Given the description of an element on the screen output the (x, y) to click on. 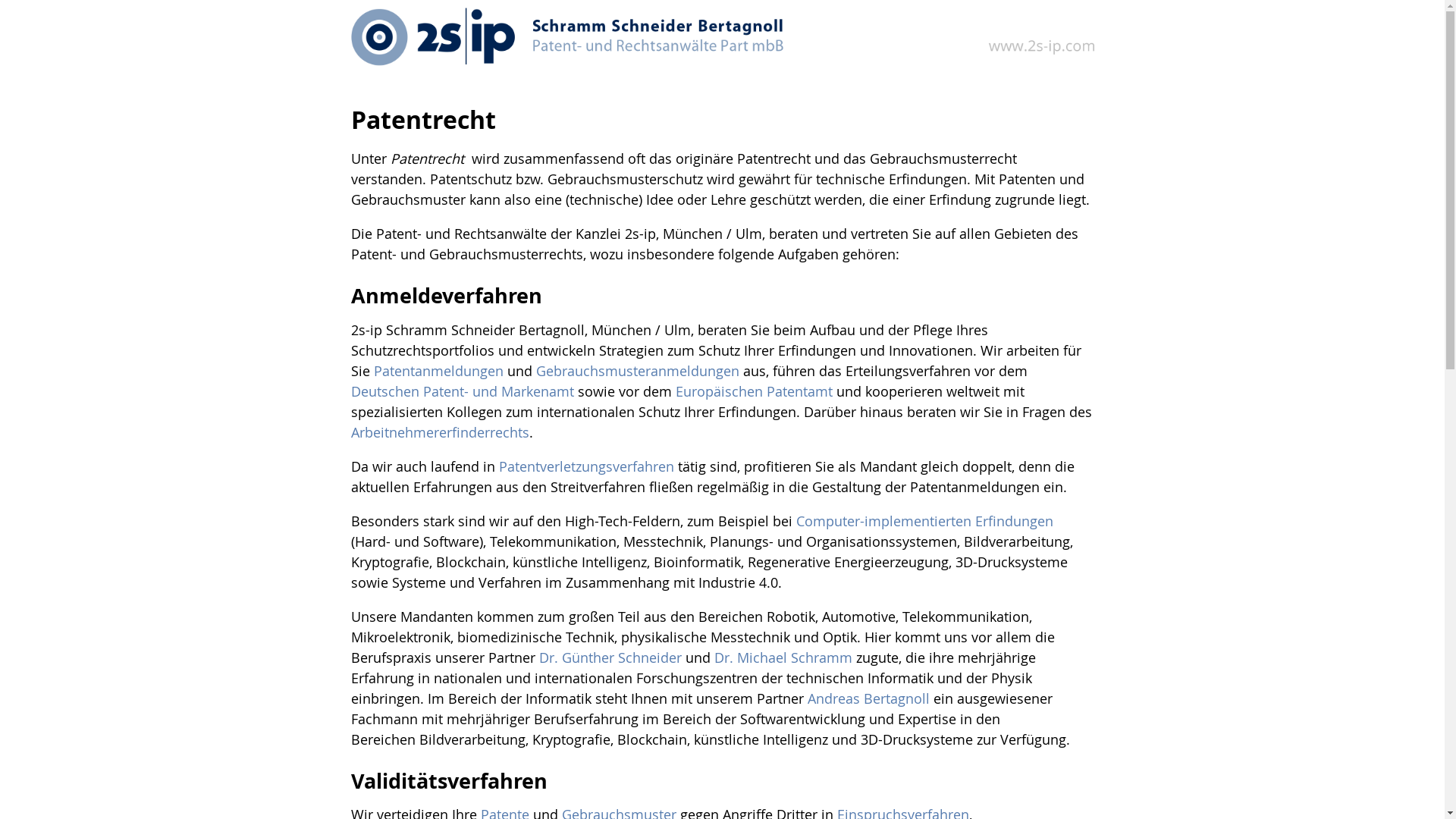
Computer-implementierten Erfindungen Element type: text (924, 520)
Dr. Michael Schramm Element type: text (783, 657)
Patentanmeldungen Element type: text (437, 370)
Gebrauchsmusteranmeldungen Element type: text (636, 370)
Andreas Bertagnoll Element type: text (867, 698)
Deutschen Patent- und Markenamt Element type: text (461, 391)
Arbeitnehmererfinderrechts Element type: text (439, 432)
Patentverletzungsverfahren Element type: text (586, 466)
